Given the description of an element on the screen output the (x, y) to click on. 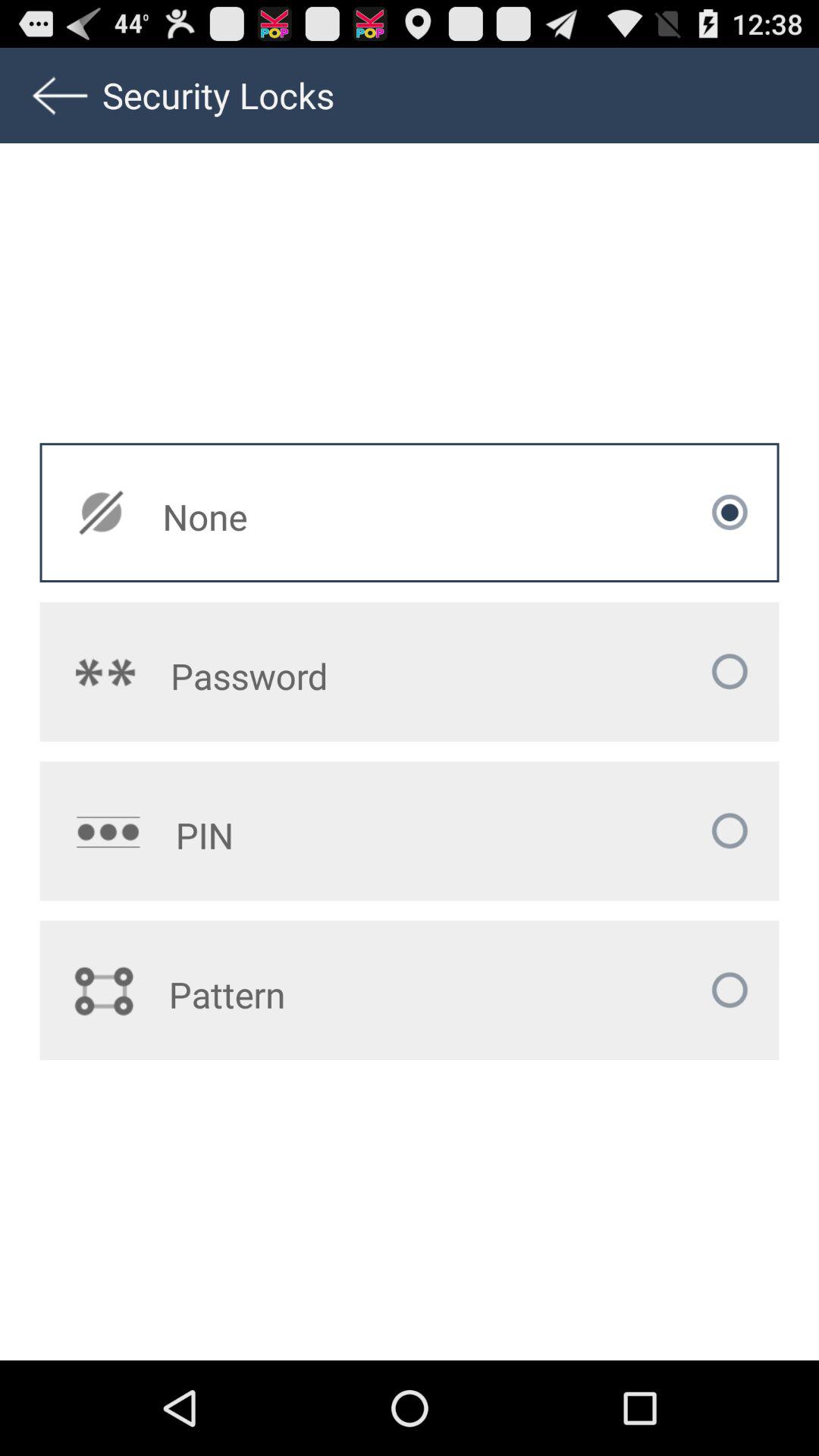
click the password icon (319, 675)
